Given the description of an element on the screen output the (x, y) to click on. 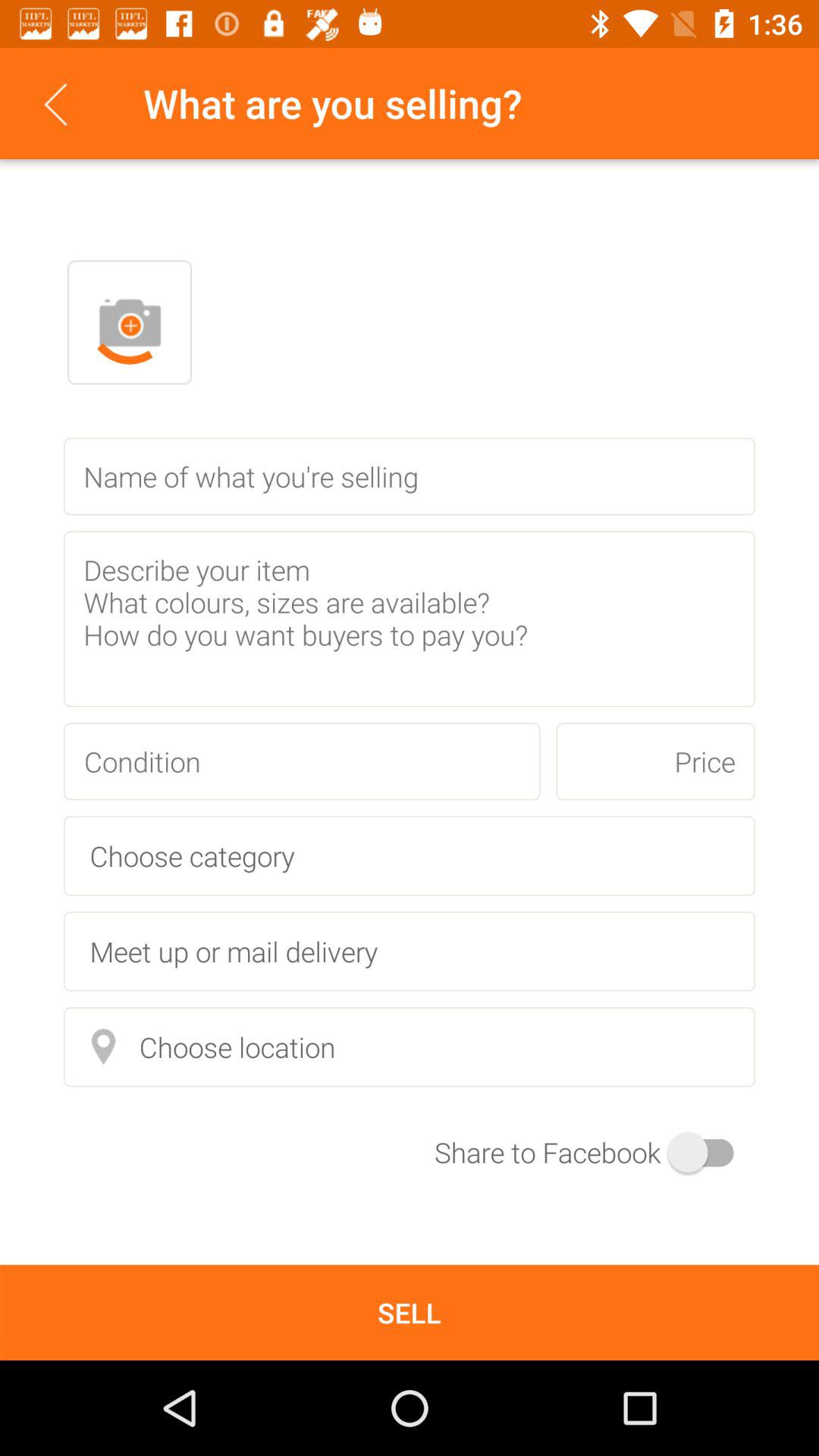
flip until the share to facebook item (594, 1152)
